Given the description of an element on the screen output the (x, y) to click on. 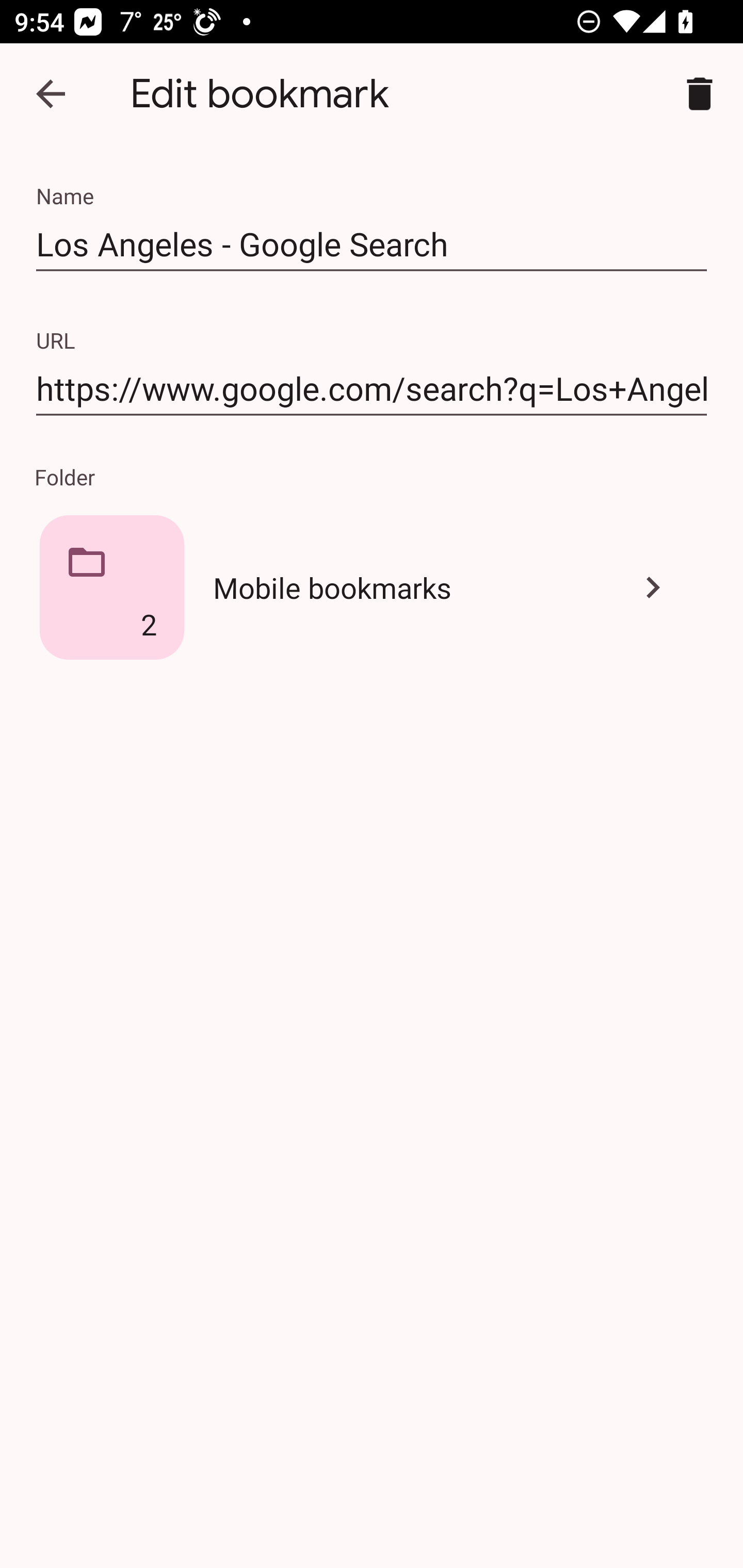
Navigate up (50, 93)
Delete bookmarks (699, 93)
Los Angeles - Google Search (371, 244)
Mobile bookmarks 2 bookmarks 2 Mobile bookmarks (371, 586)
